Given the description of an element on the screen output the (x, y) to click on. 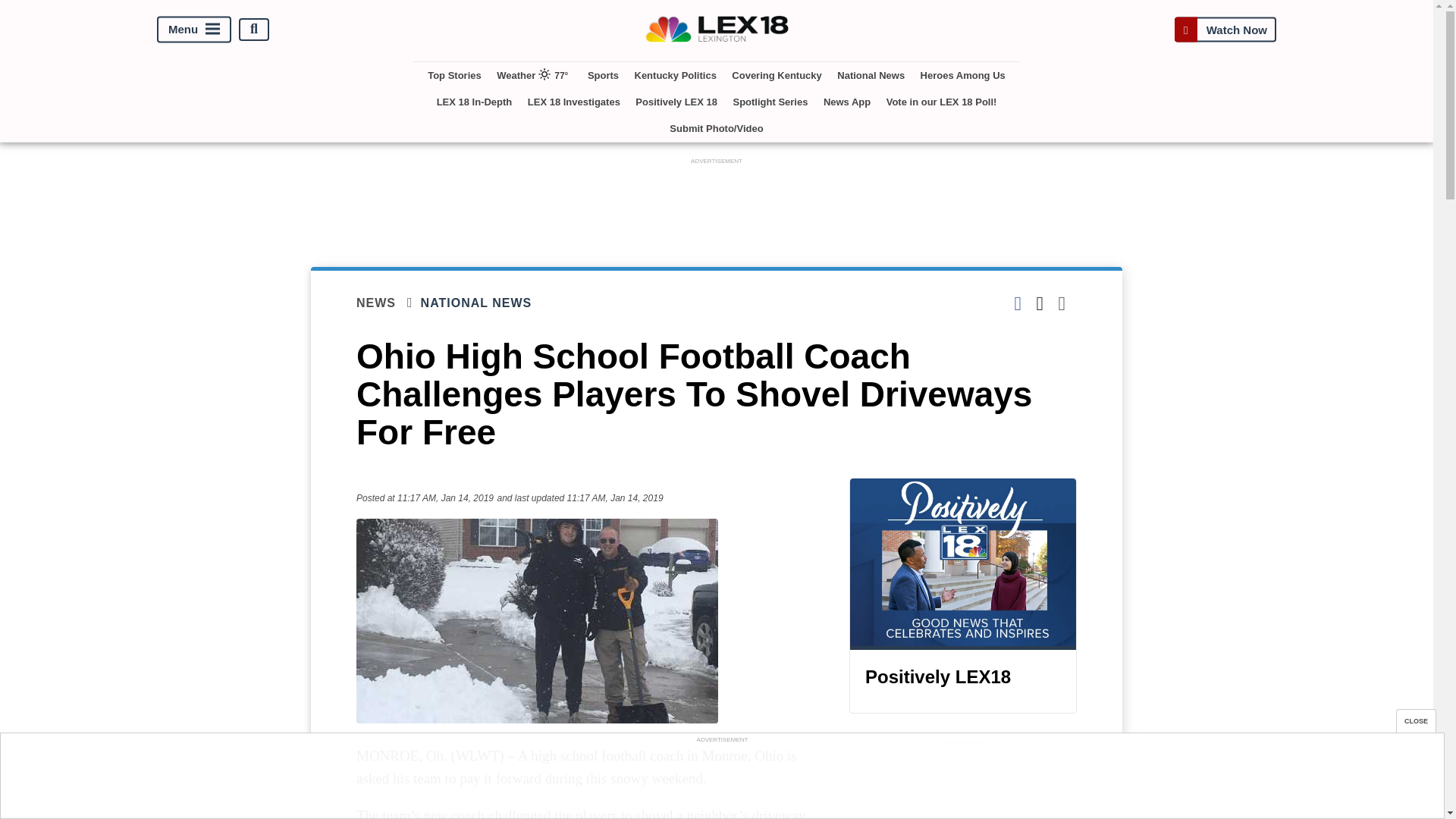
3rd party ad content (716, 202)
Watch Now (1224, 29)
Menu (194, 28)
